Given the description of an element on the screen output the (x, y) to click on. 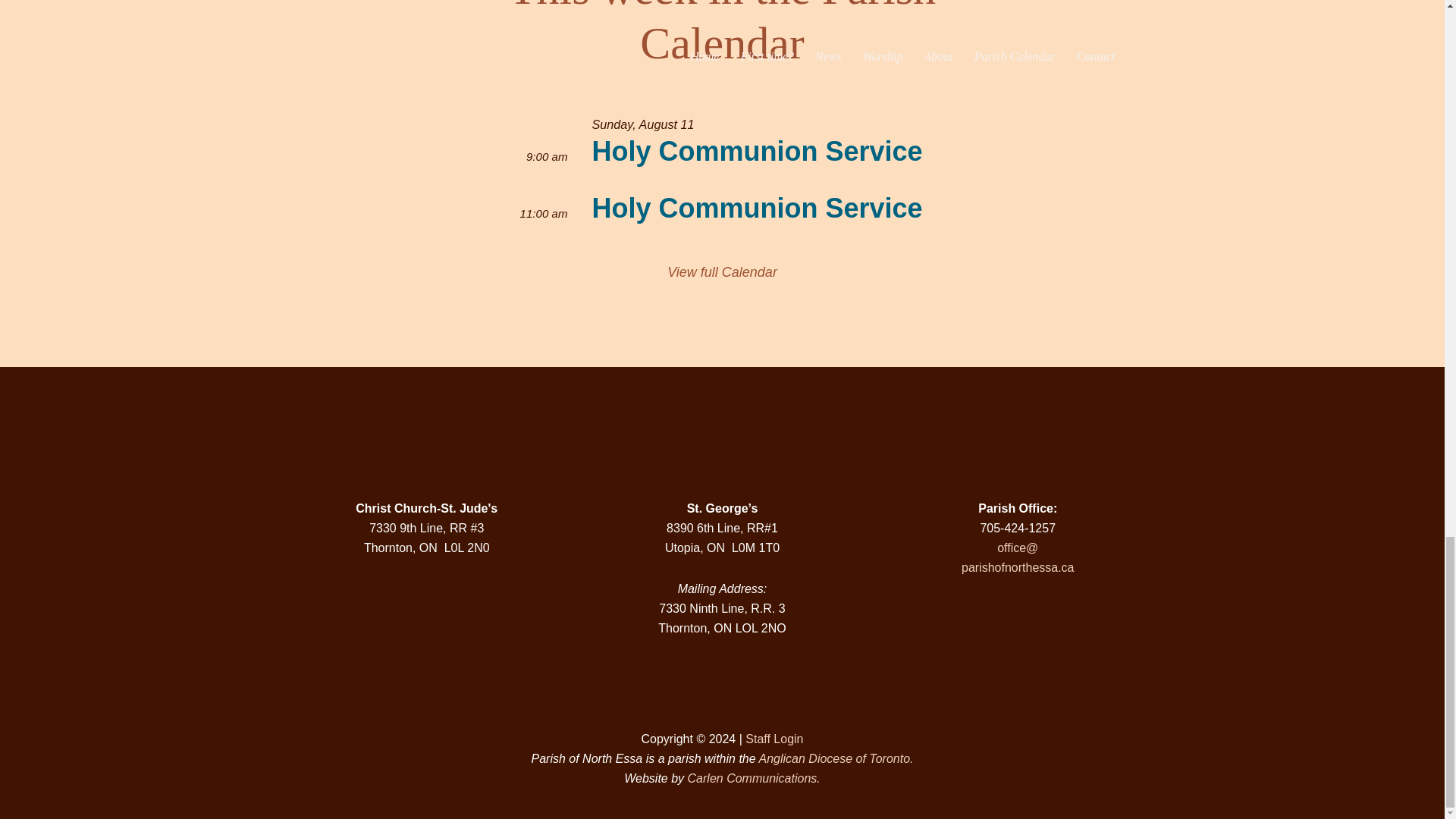
Anglican Diocese of Toronto. (835, 758)
Parish Office Contact Details (1016, 434)
Holy Communion Service (756, 207)
View full Calendar (722, 272)
Holy Communion Service (756, 151)
Carlen Communications. (754, 778)
Carlen Communications (754, 778)
Staff Login (774, 738)
